Given the description of an element on the screen output the (x, y) to click on. 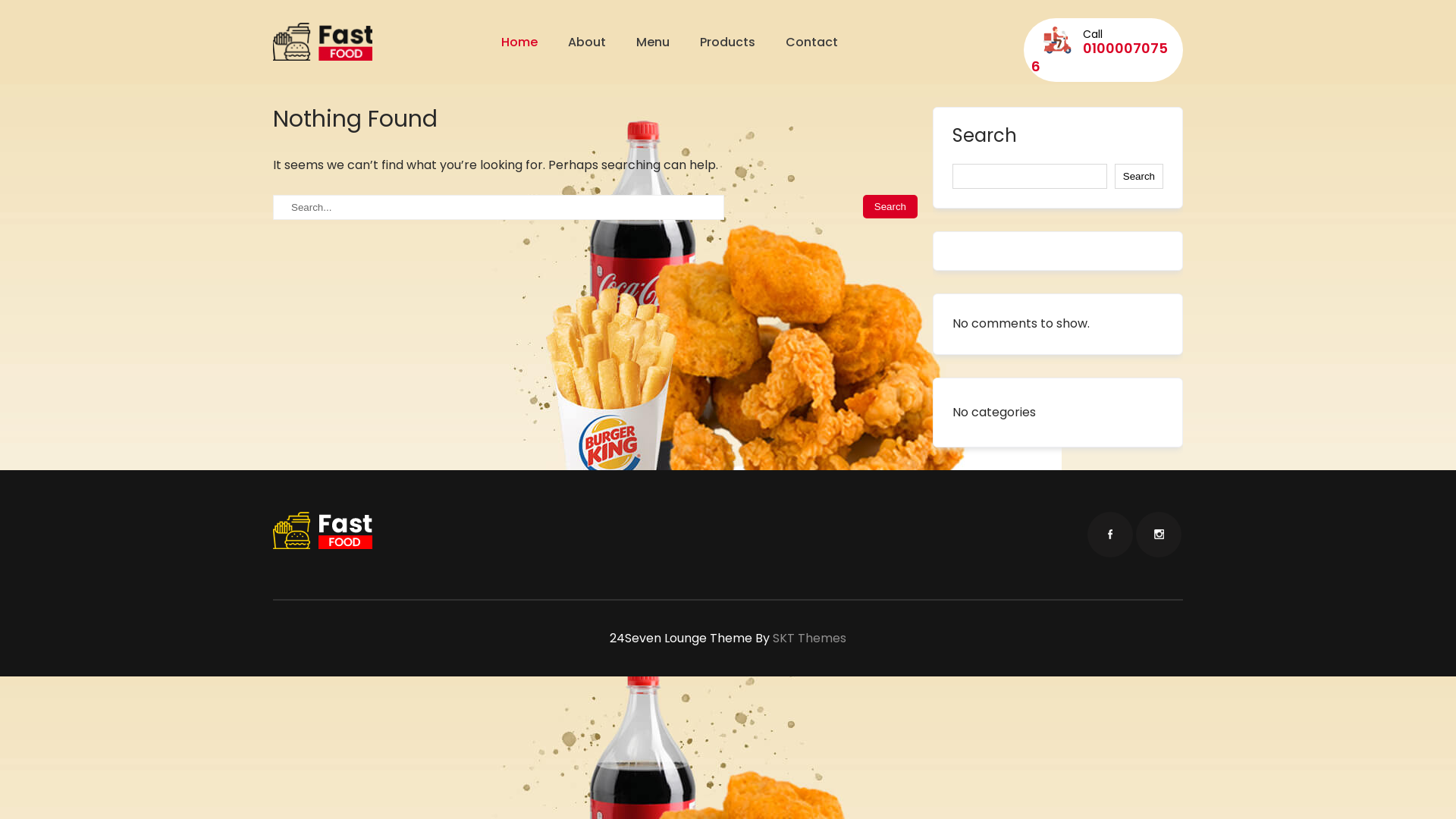
About Element type: text (586, 42)
Menu Element type: text (652, 42)
Search Element type: text (889, 206)
Products Element type: text (727, 42)
Search Element type: text (1138, 175)
Contact Element type: text (803, 42)
Instagram Element type: hover (1158, 534)
Home Element type: text (519, 42)
SKT Themes Element type: text (809, 637)
Facebook Element type: hover (1109, 534)
